Given the description of an element on the screen output the (x, y) to click on. 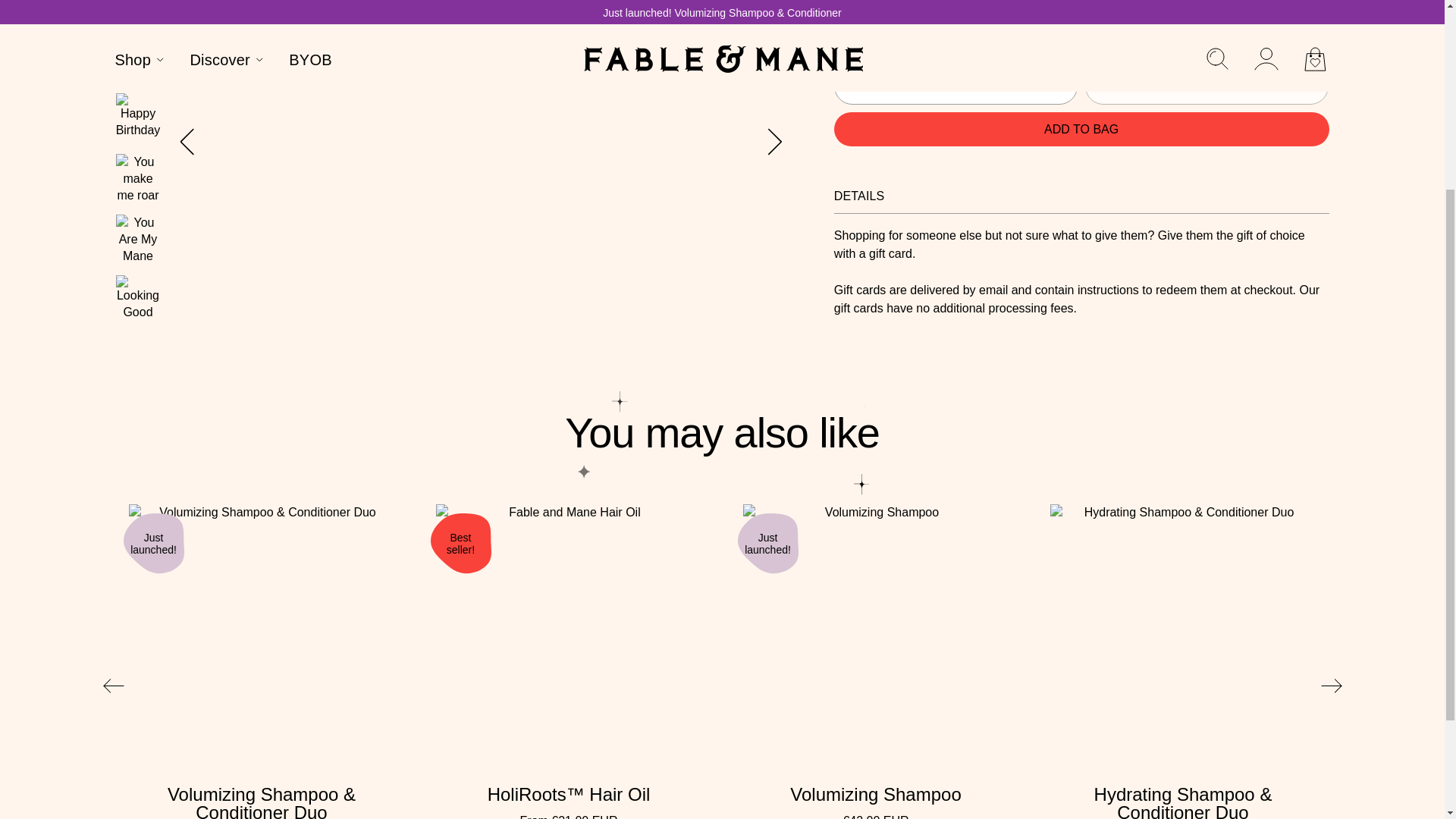
1 (955, 85)
